Given the description of an element on the screen output the (x, y) to click on. 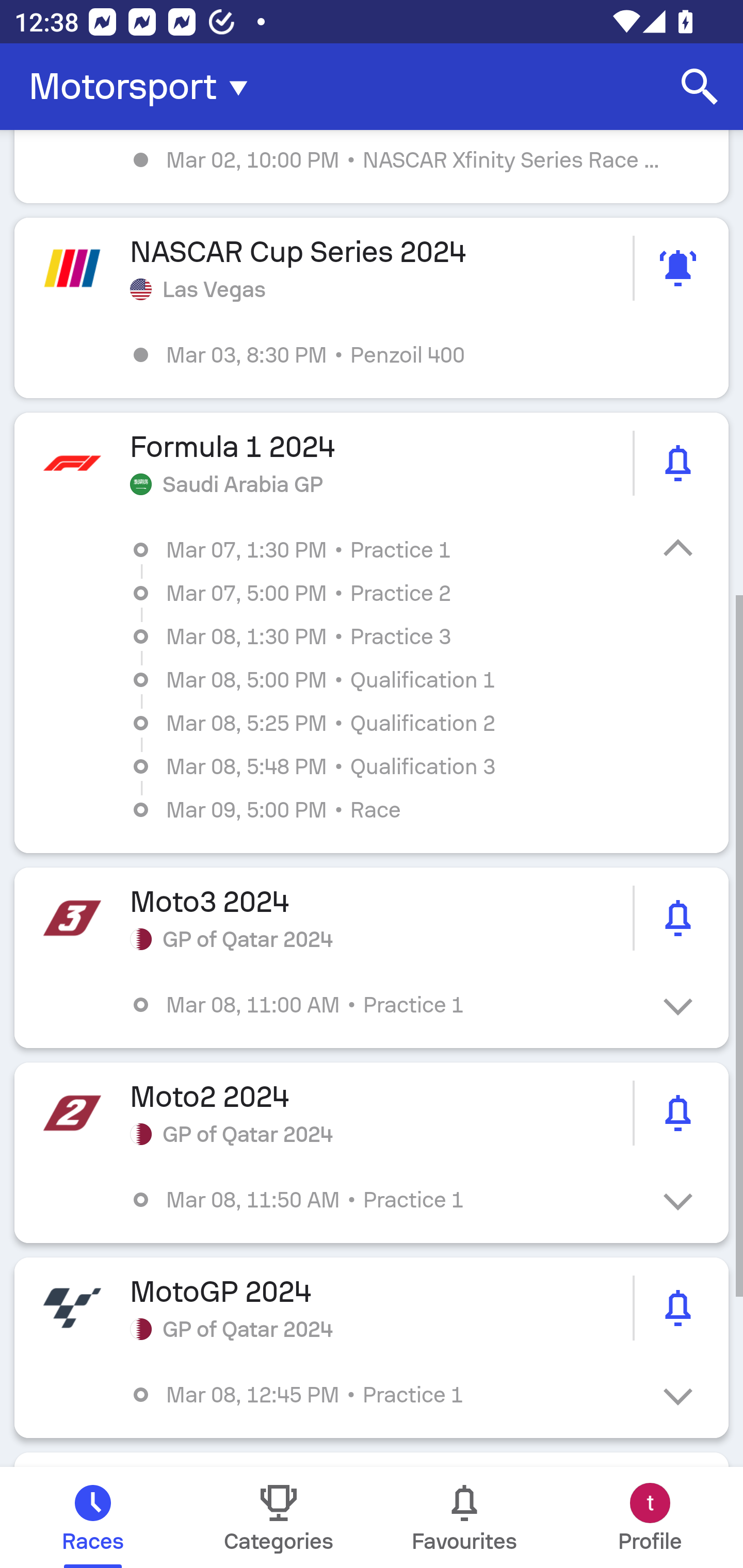
Motorsport (144, 86)
Search (699, 86)
Mar 08, 11:00 AM • Practice 1 (385, 1004)
Mar 08, 11:50 AM • Practice 1 (385, 1200)
Mar 08, 12:45 PM • Practice 1 (385, 1394)
Categories (278, 1517)
Favourites (464, 1517)
Profile (650, 1517)
